Given the description of an element on the screen output the (x, y) to click on. 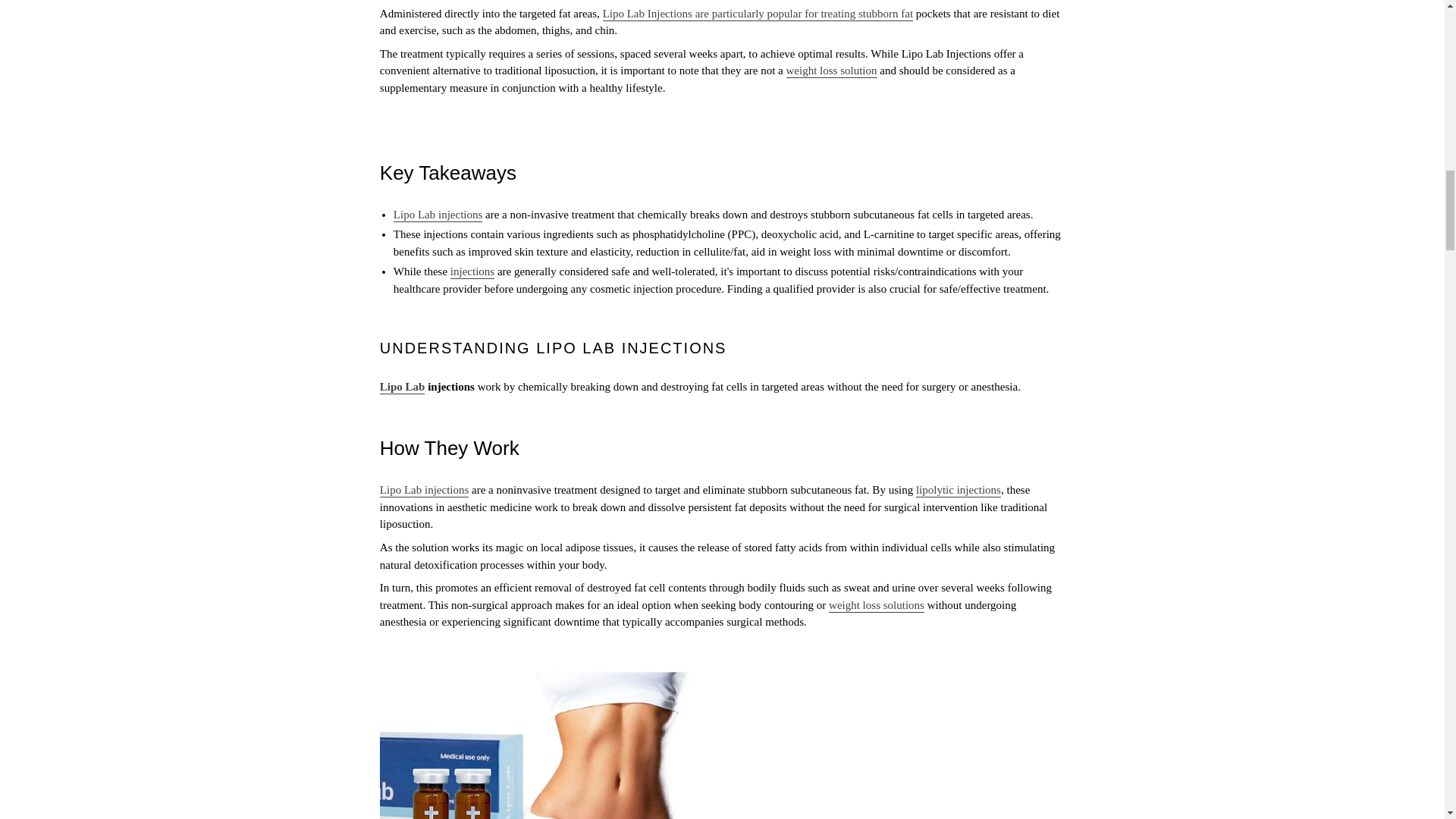
Lipo Lab (402, 386)
